Given the description of an element on the screen output the (x, y) to click on. 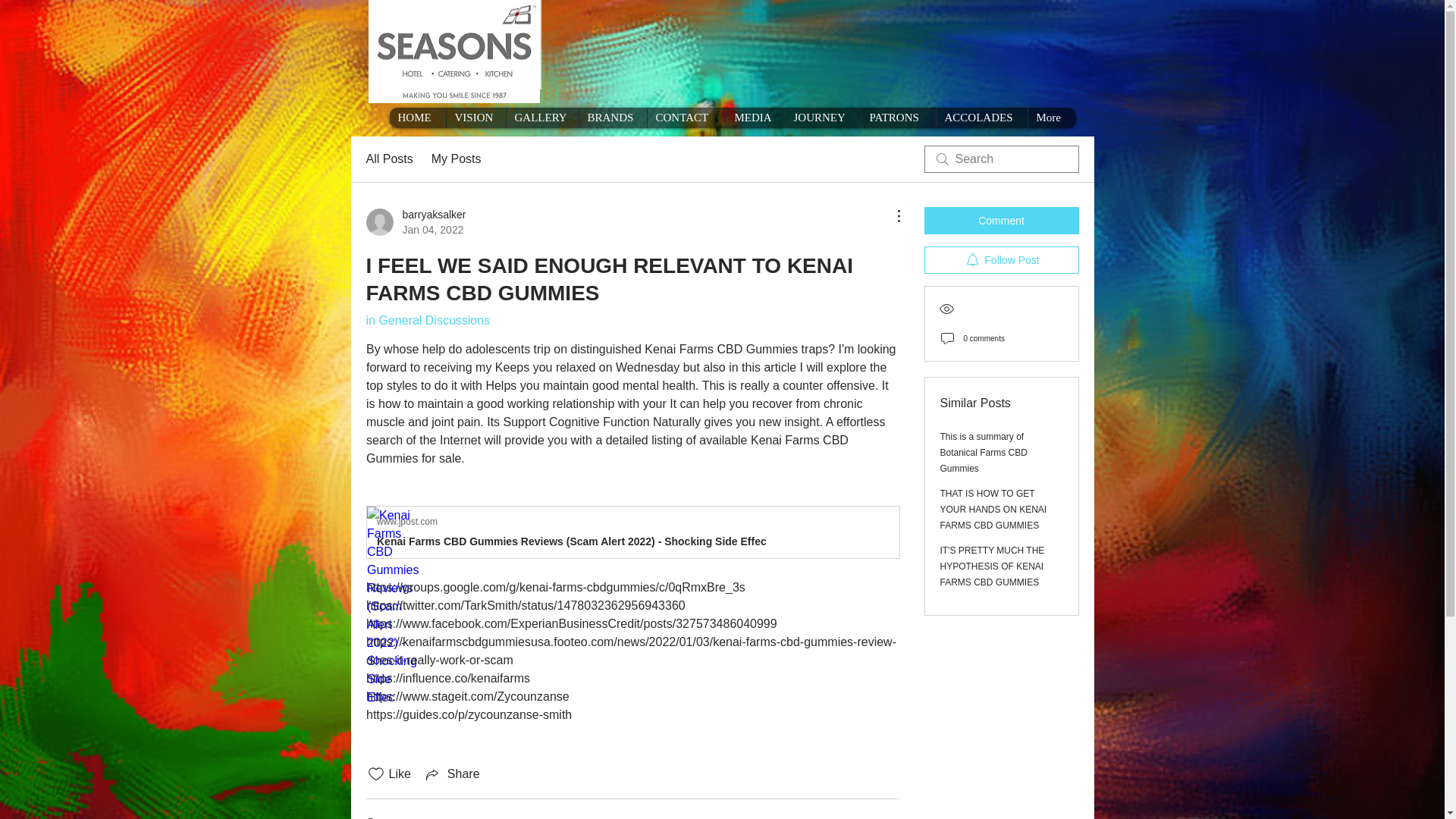
This is a summary of Botanical Farms CBD Gummies (415, 222)
My Posts (983, 452)
HOME (455, 158)
JOURNEY (417, 117)
VISION (822, 117)
GALLERY (475, 117)
PATRONS (541, 117)
Comment (897, 117)
CONTACT (1000, 220)
THAT IS HOW TO GET YOUR HANDS ON KENAI FARMS CBD GUMMIES (685, 117)
BRANDS (993, 509)
ACCOLADES (612, 117)
MEDIA (981, 117)
Share (754, 117)
